Given the description of an element on the screen output the (x, y) to click on. 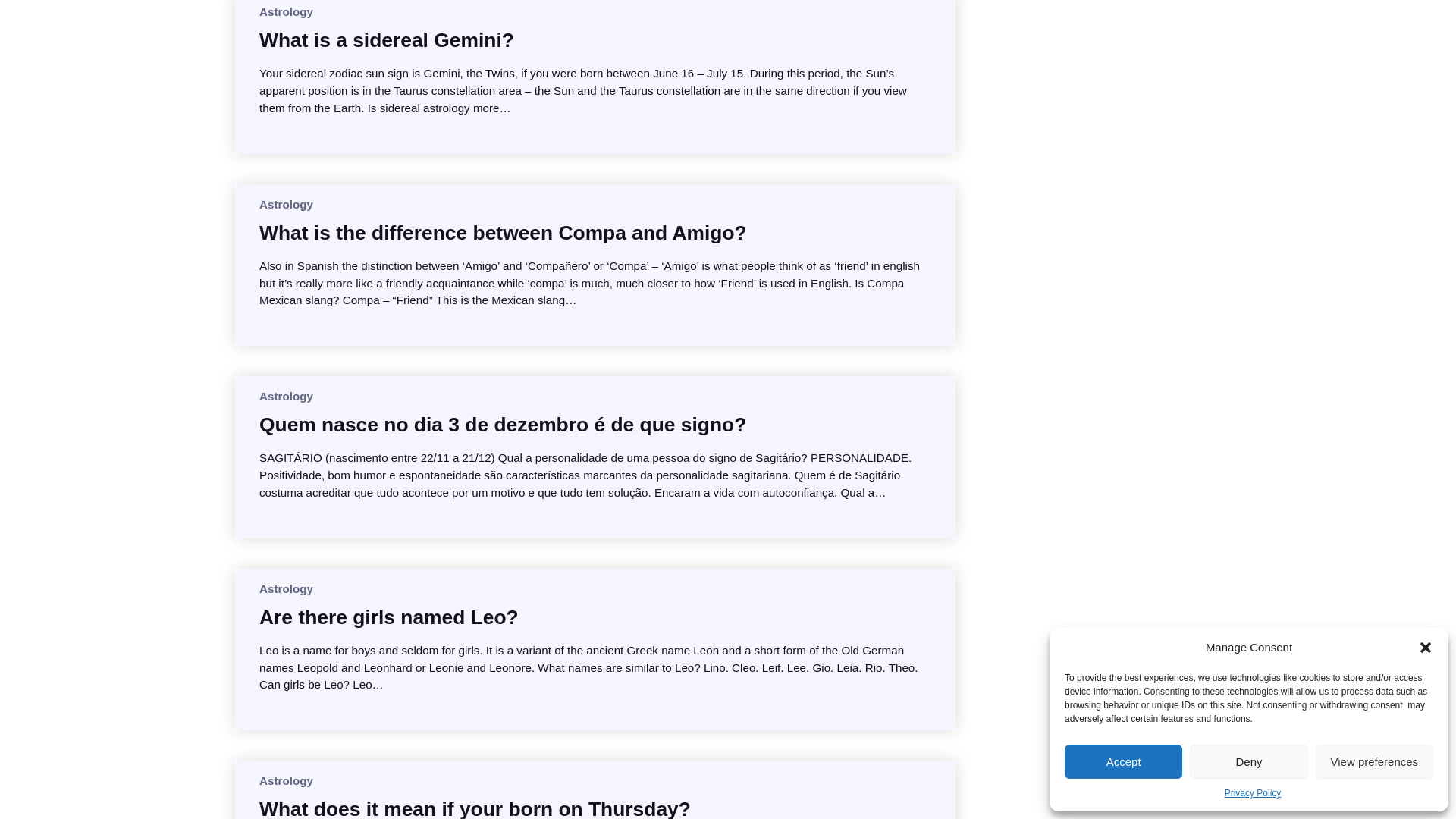
Astrology (286, 11)
What is a sidereal Gemini? (386, 40)
